Given the description of an element on the screen output the (x, y) to click on. 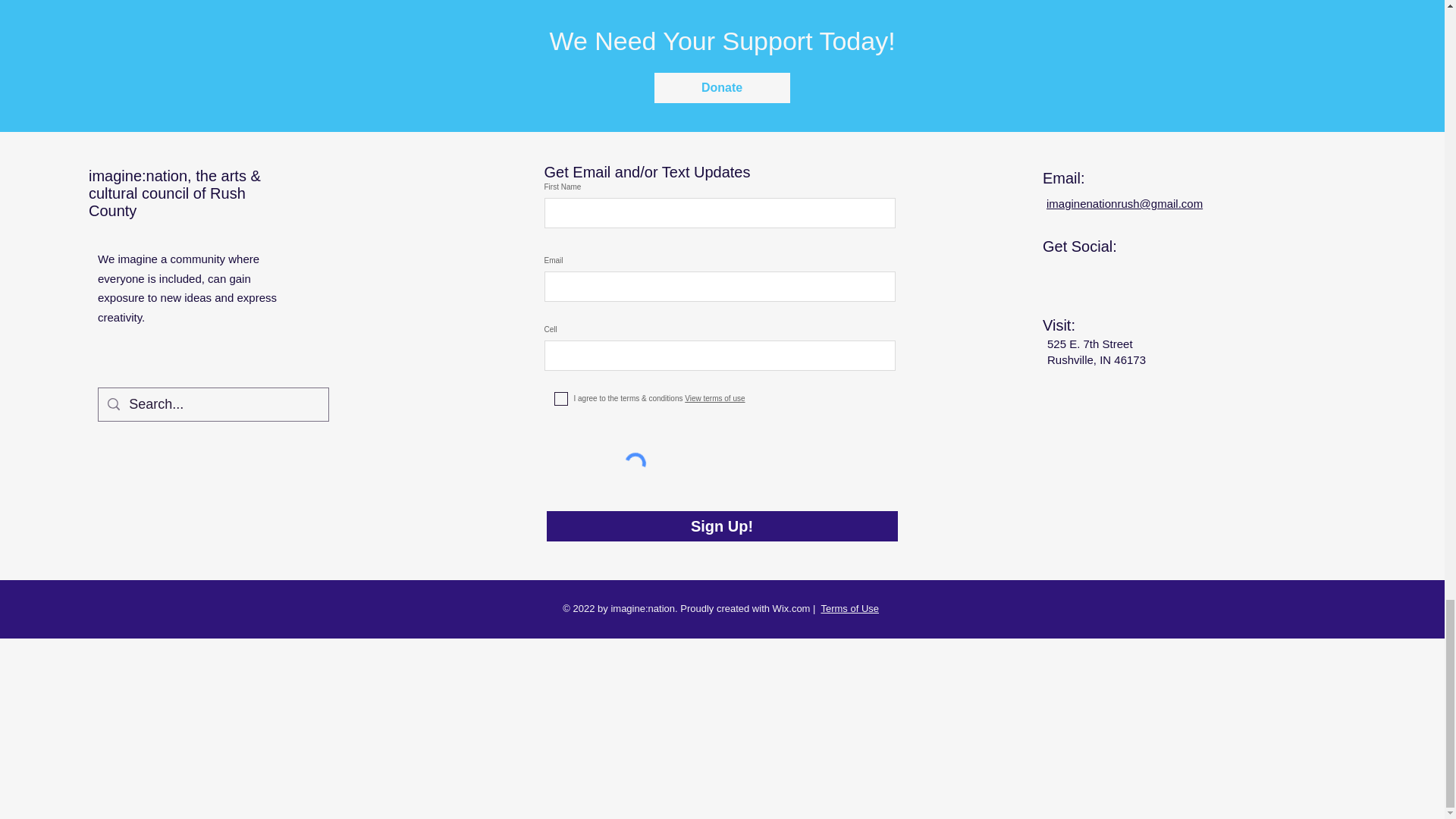
Terms of Use (850, 608)
View terms of use (713, 397)
Sign Up! (721, 526)
Wix.com (791, 608)
Donate (721, 87)
